Given the description of an element on the screen output the (x, y) to click on. 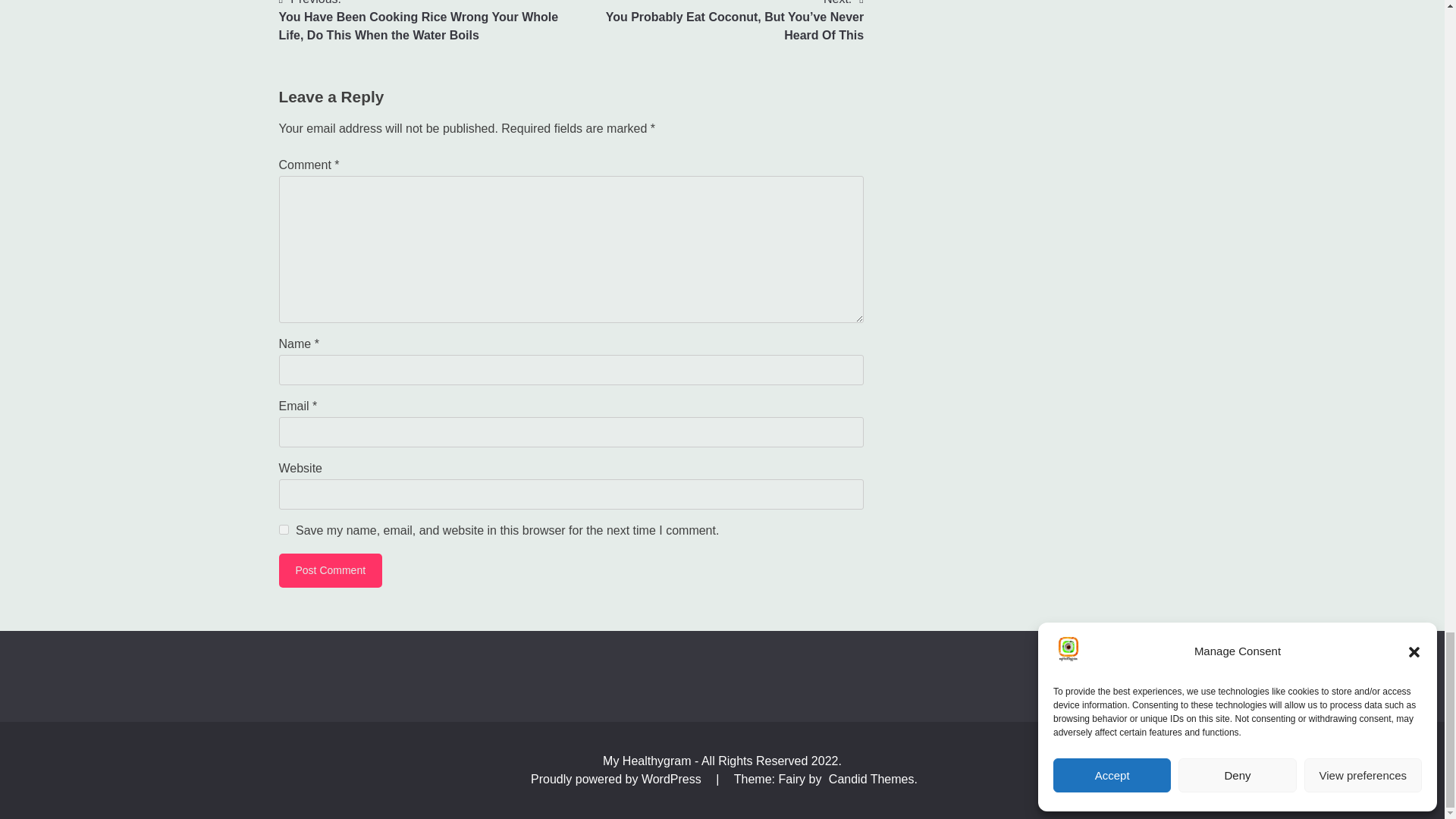
yes (283, 529)
Post Comment (330, 570)
